Given the description of an element on the screen output the (x, y) to click on. 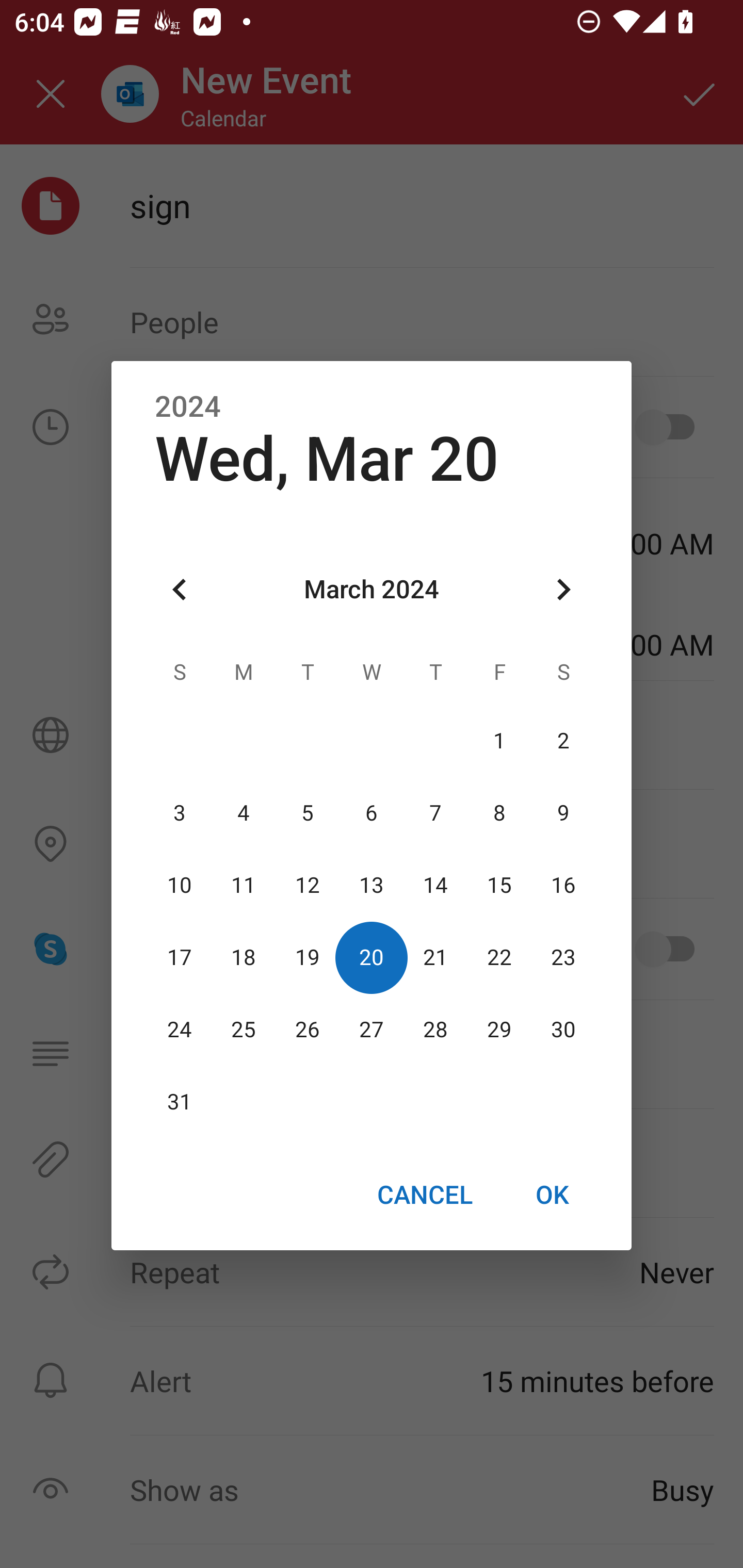
2024 (187, 406)
Wed, Mar 20 (326, 459)
Previous month (178, 589)
Next month (563, 589)
1 01 March 2024 (499, 741)
2 02 March 2024 (563, 741)
3 03 March 2024 (179, 813)
4 04 March 2024 (243, 813)
5 05 March 2024 (307, 813)
6 06 March 2024 (371, 813)
7 07 March 2024 (435, 813)
8 08 March 2024 (499, 813)
9 09 March 2024 (563, 813)
10 10 March 2024 (179, 885)
11 11 March 2024 (243, 885)
12 12 March 2024 (307, 885)
13 13 March 2024 (371, 885)
14 14 March 2024 (435, 885)
15 15 March 2024 (499, 885)
16 16 March 2024 (563, 885)
17 17 March 2024 (179, 957)
18 18 March 2024 (243, 957)
19 19 March 2024 (307, 957)
20 20 March 2024 (371, 957)
21 21 March 2024 (435, 957)
22 22 March 2024 (499, 957)
23 23 March 2024 (563, 957)
24 24 March 2024 (179, 1030)
25 25 March 2024 (243, 1030)
26 26 March 2024 (307, 1030)
27 27 March 2024 (371, 1030)
28 28 March 2024 (435, 1030)
29 29 March 2024 (499, 1030)
30 30 March 2024 (563, 1030)
31 31 March 2024 (179, 1102)
CANCEL (424, 1194)
OK (552, 1194)
